Given the description of an element on the screen output the (x, y) to click on. 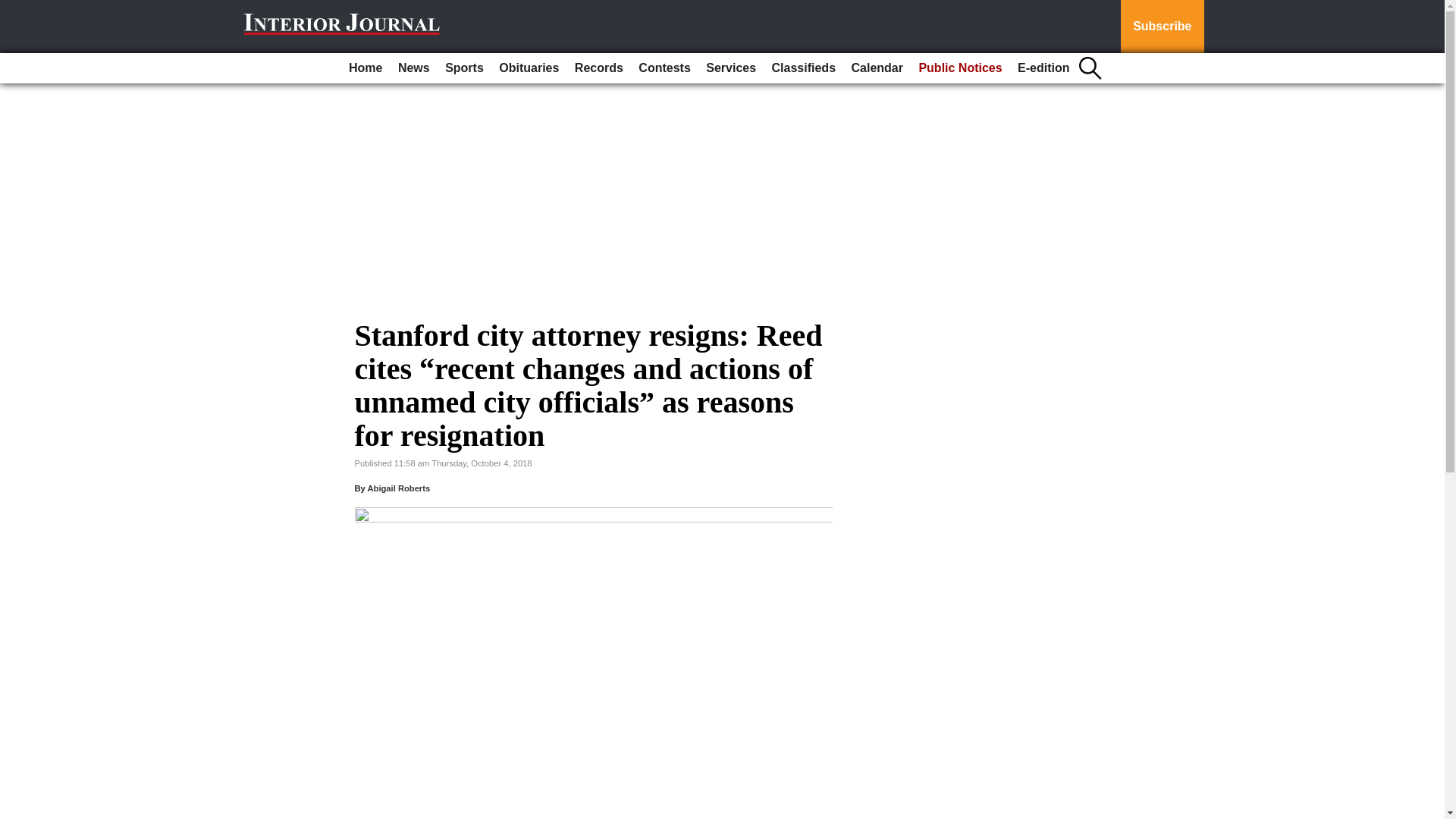
Subscribe (1162, 26)
Sports (464, 68)
Classifieds (803, 68)
Go (13, 9)
News (413, 68)
Calendar (876, 68)
E-edition (1043, 68)
Obituaries (528, 68)
Public Notices (959, 68)
Services (730, 68)
